Given the description of an element on the screen output the (x, y) to click on. 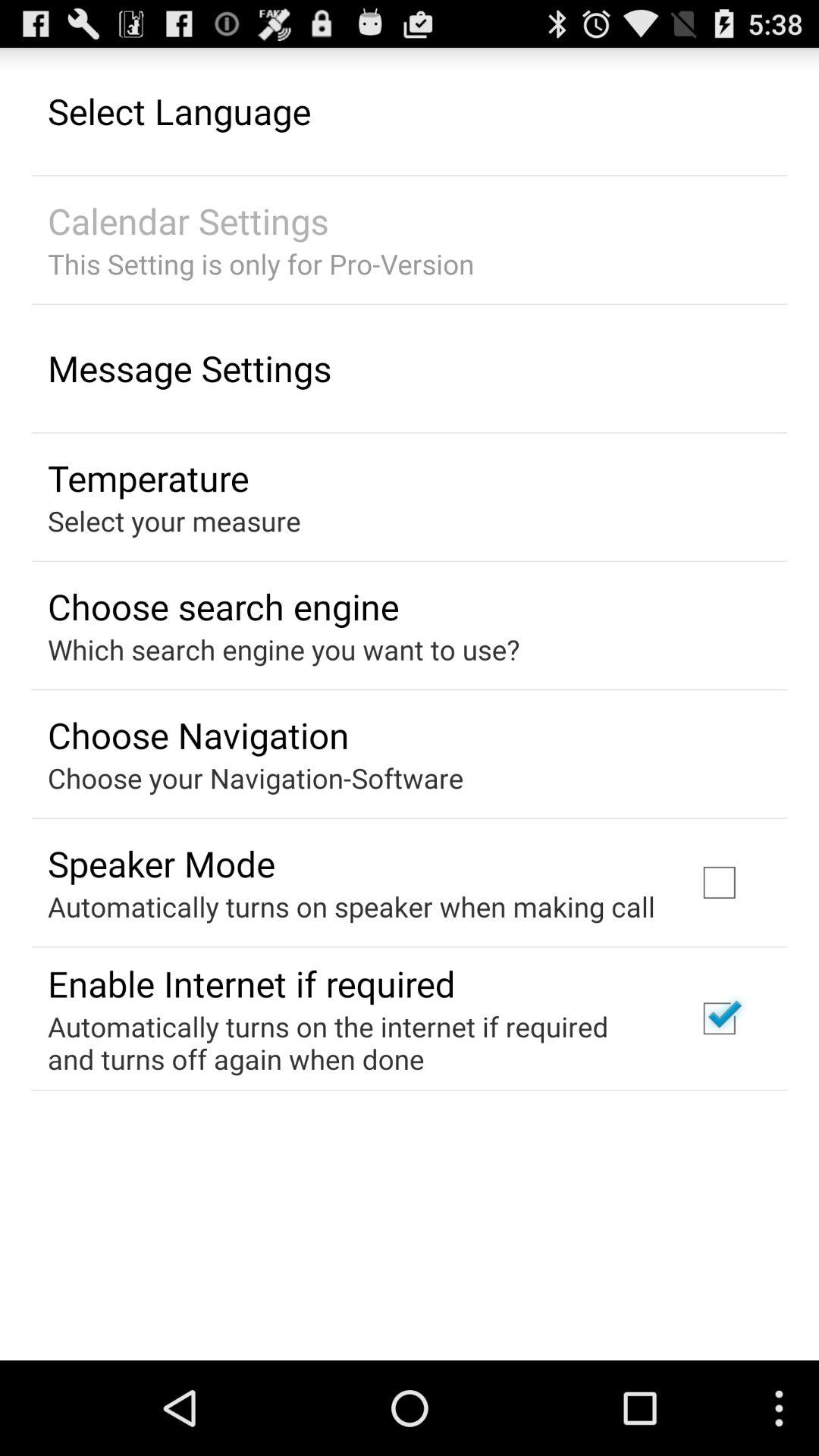
open the item above the select your measure app (148, 477)
